Given the description of an element on the screen output the (x, y) to click on. 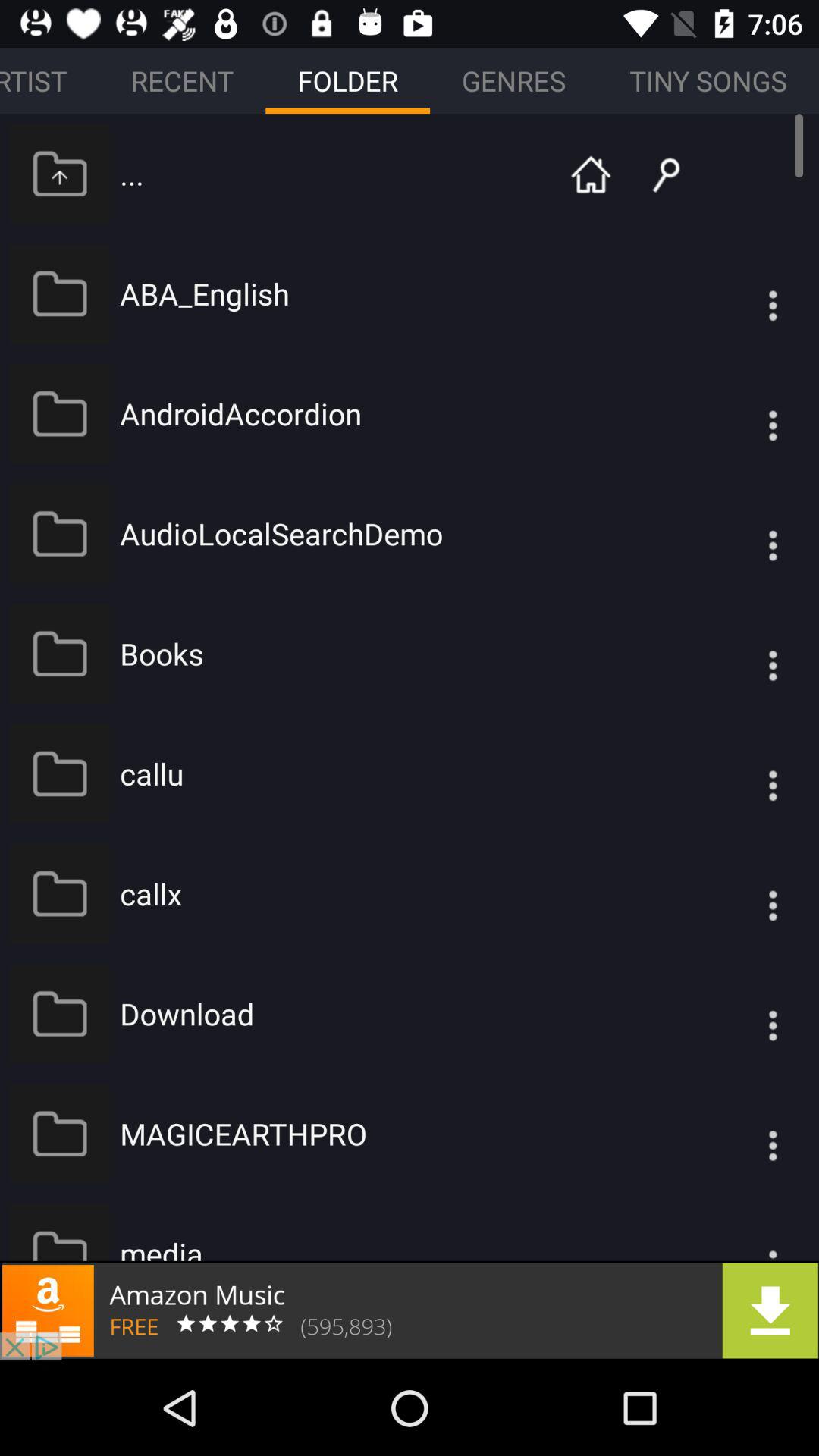
announcement (409, 1310)
